Given the description of an element on the screen output the (x, y) to click on. 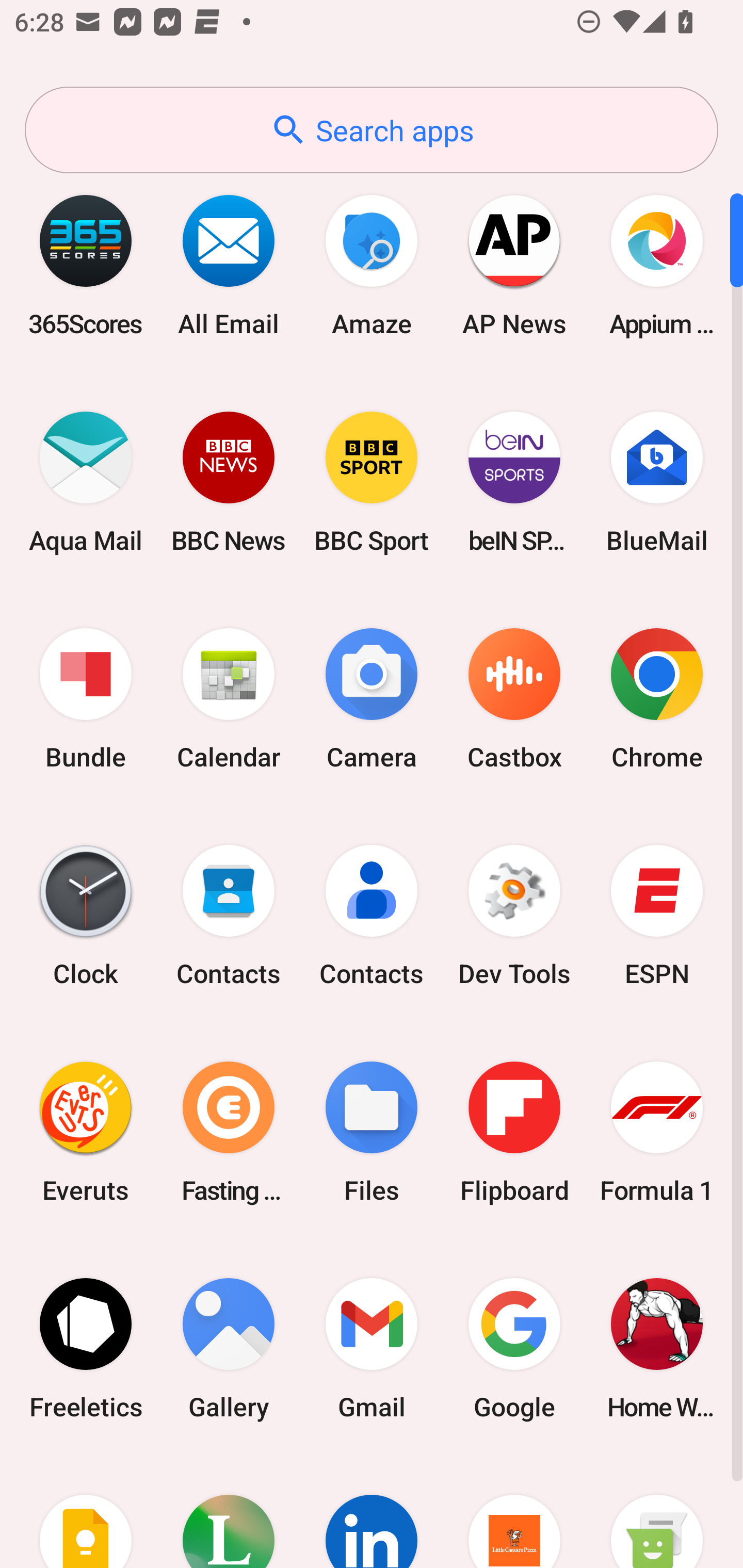
  Search apps (371, 130)
365Scores (85, 264)
All Email (228, 264)
Amaze (371, 264)
AP News (514, 264)
Appium Settings (656, 264)
Aqua Mail (85, 482)
BBC News (228, 482)
BBC Sport (371, 482)
beIN SPORTS (514, 482)
BlueMail (656, 482)
Bundle (85, 699)
Calendar (228, 699)
Camera (371, 699)
Castbox (514, 699)
Chrome (656, 699)
Clock (85, 915)
Contacts (228, 915)
Contacts (371, 915)
Dev Tools (514, 915)
ESPN (656, 915)
Everuts (85, 1131)
Fasting Coach (228, 1131)
Files (371, 1131)
Flipboard (514, 1131)
Formula 1 (656, 1131)
Freeletics (85, 1348)
Gallery (228, 1348)
Gmail (371, 1348)
Google (514, 1348)
Home Workout (656, 1348)
